Given the description of an element on the screen output the (x, y) to click on. 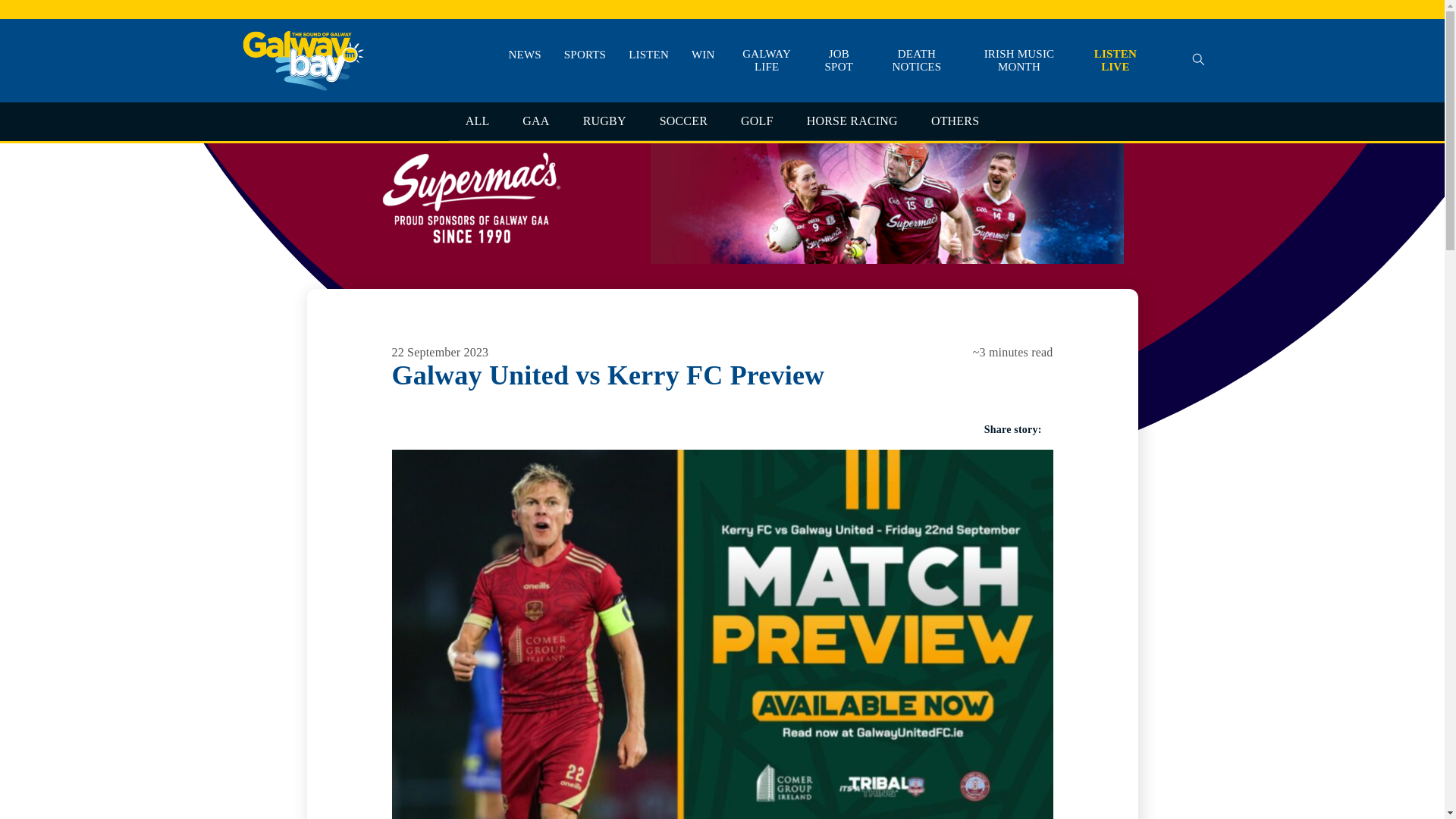
GOLF (756, 121)
DEATH NOTICES (917, 60)
Galway Bay FM (279, 112)
SOCCER (683, 121)
LISTEN LIVE (1115, 60)
LISTEN (648, 54)
RUGBY (604, 121)
GAA (535, 121)
IRISH MUSIC MONTH (1019, 60)
HORSE RACING (852, 121)
